Given the description of an element on the screen output the (x, y) to click on. 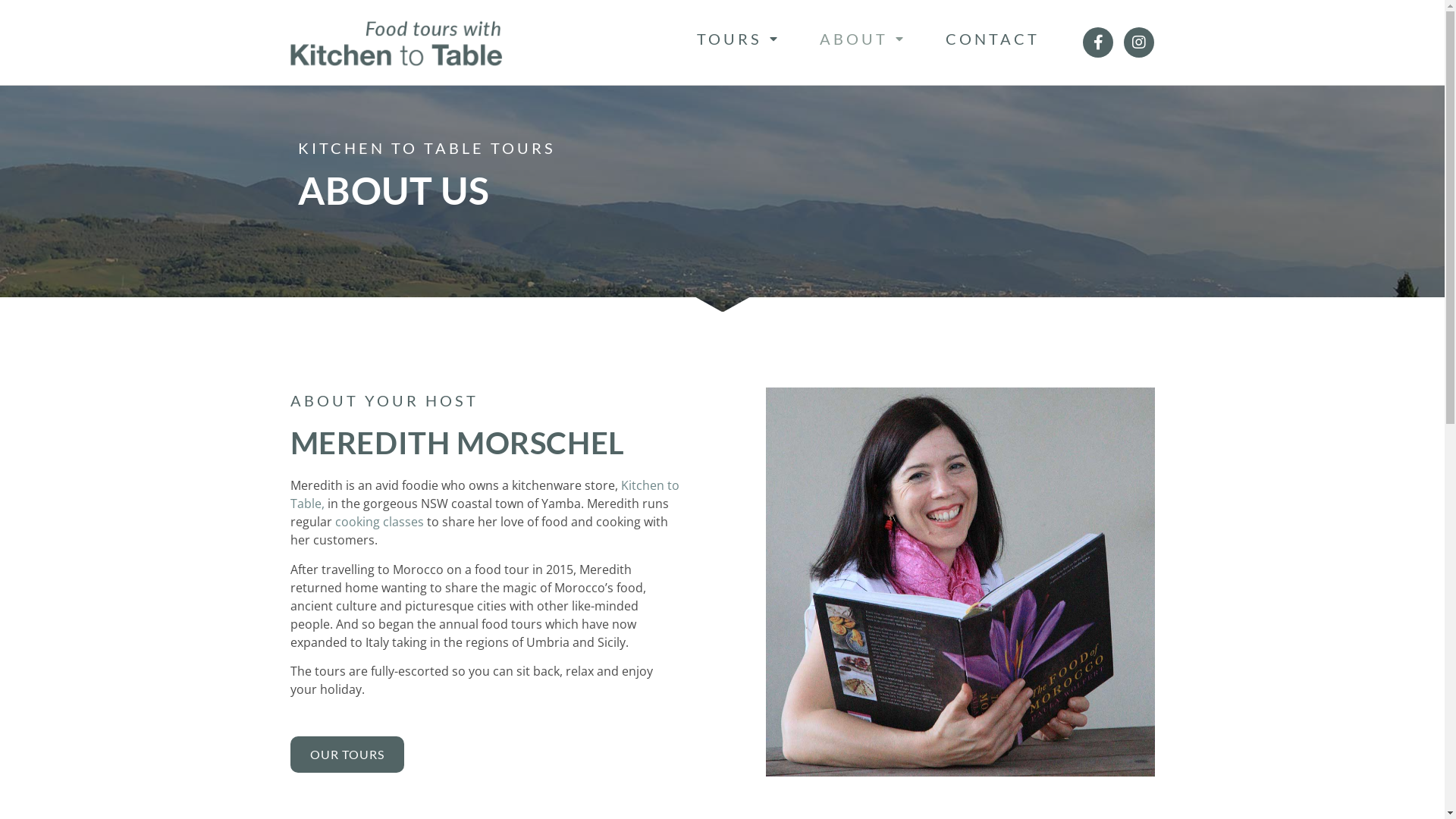
CONTACT Element type: text (992, 38)
cooking classes Element type: text (379, 521)
TOURS Element type: text (738, 38)
ABOUT Element type: text (862, 38)
Kitchen to Table, Element type: text (483, 493)
OUR TOURS Element type: text (346, 754)
